Given the description of an element on the screen output the (x, y) to click on. 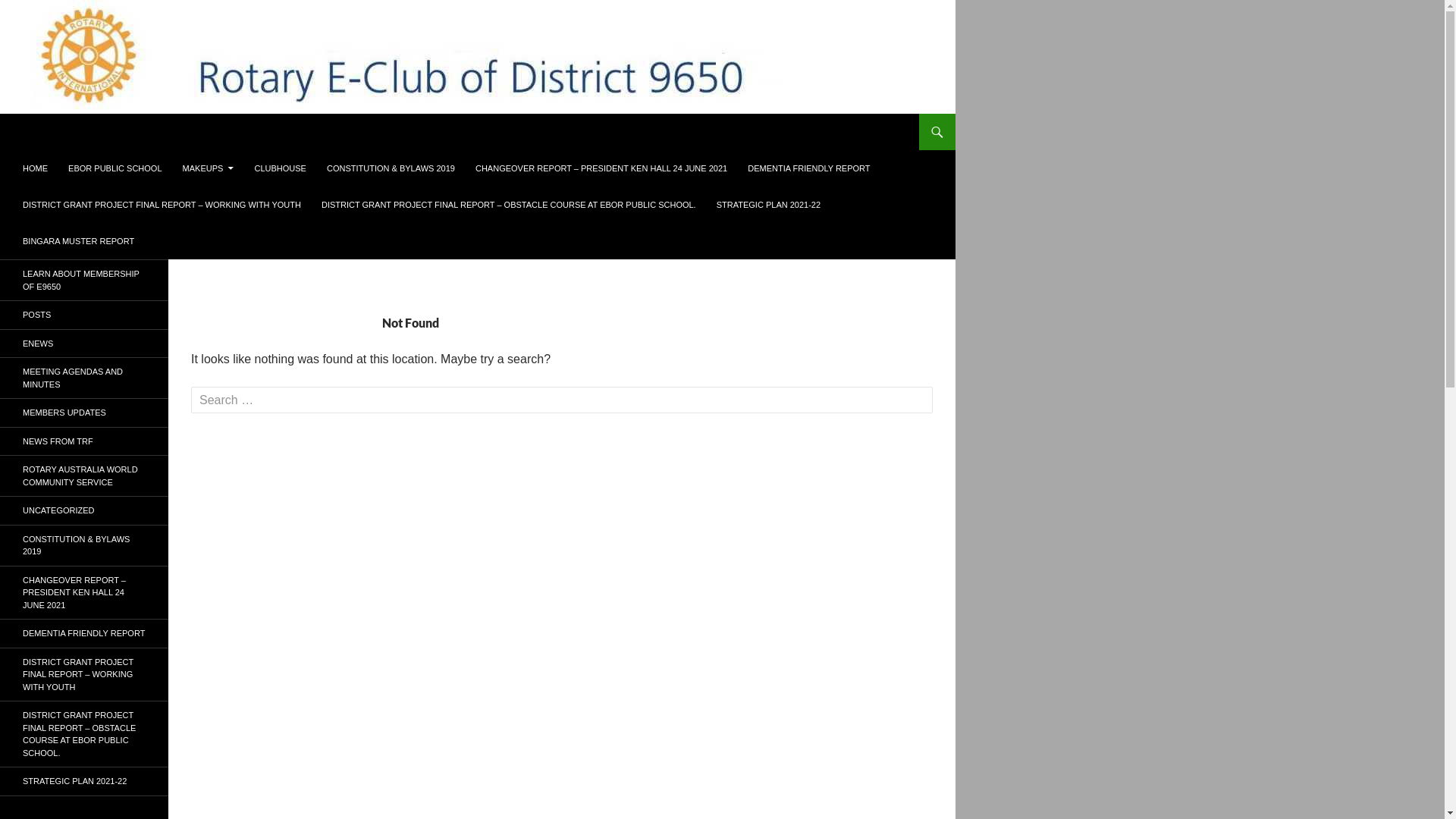
DEMENTIA FRIENDLY REPORT Element type: text (84, 633)
CLUBHOUSE Element type: text (279, 168)
BINGARA MUSTER REPORT Element type: text (78, 240)
CONSTITUTION & BYLAWS 2019 Element type: text (84, 544)
NEWS FROM TRF Element type: text (84, 441)
Rotary 9650 eClub Element type: text (78, 131)
DEMENTIA FRIENDLY REPORT Element type: text (808, 168)
Search Element type: text (29, 9)
Search Element type: text (40, 13)
Search Element type: text (3, 112)
EBOR PUBLIC SCHOOL Element type: text (114, 168)
LEARN ABOUT MEMBERSHIP OF E9650 Element type: text (84, 280)
POSTS Element type: text (84, 315)
ENEWS Element type: text (84, 343)
SKIP TO CONTENT Element type: text (21, 149)
MAKEUPS Element type: text (208, 168)
STRATEGIC PLAN 2021-22 Element type: text (84, 781)
UNCATEGORIZED Element type: text (84, 510)
STRATEGIC PLAN 2021-22 Element type: text (768, 204)
HOME Element type: text (34, 168)
MEETING AGENDAS AND MINUTES Element type: text (84, 377)
MEMBERS UPDATES Element type: text (84, 412)
CONSTITUTION & BYLAWS 2019 Element type: text (390, 168)
ROTARY AUSTRALIA WORLD COMMUNITY SERVICE Element type: text (84, 475)
